Given the description of an element on the screen output the (x, y) to click on. 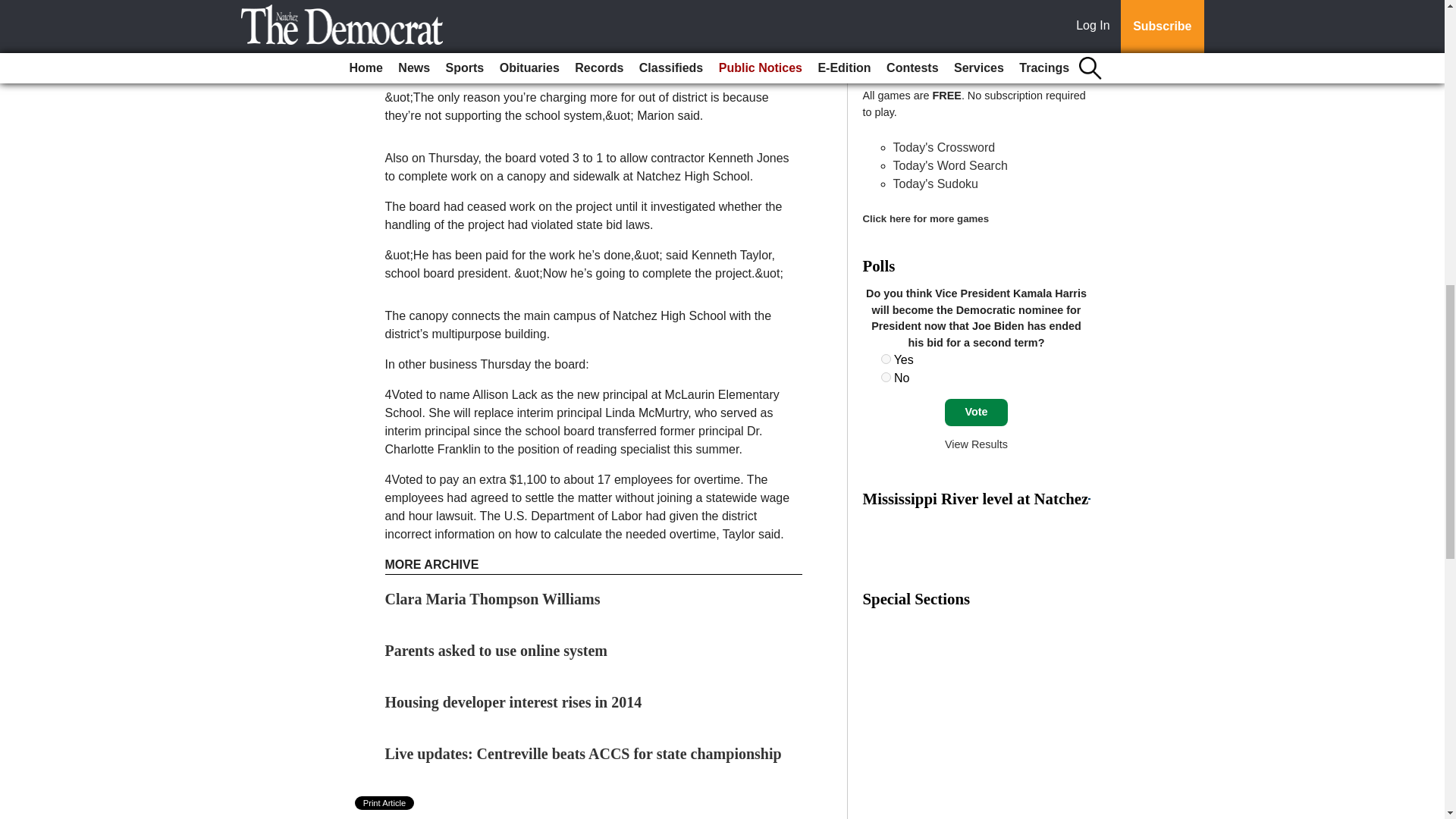
Housing developer interest rises in 2014 (513, 701)
Live updates: Centreville beats ACCS for state championship (583, 753)
Print Article (384, 802)
Parents asked to use online system (496, 650)
Clara Maria Thompson Williams (492, 598)
Clara Maria Thompson Williams (492, 598)
   Vote    (975, 411)
22425 (885, 358)
Live updates: Centreville beats ACCS for state championship (583, 753)
View Results Of This Poll (975, 444)
Housing developer interest rises in 2014 (513, 701)
Parents asked to use online system (496, 650)
22426 (885, 377)
